Given the description of an element on the screen output the (x, y) to click on. 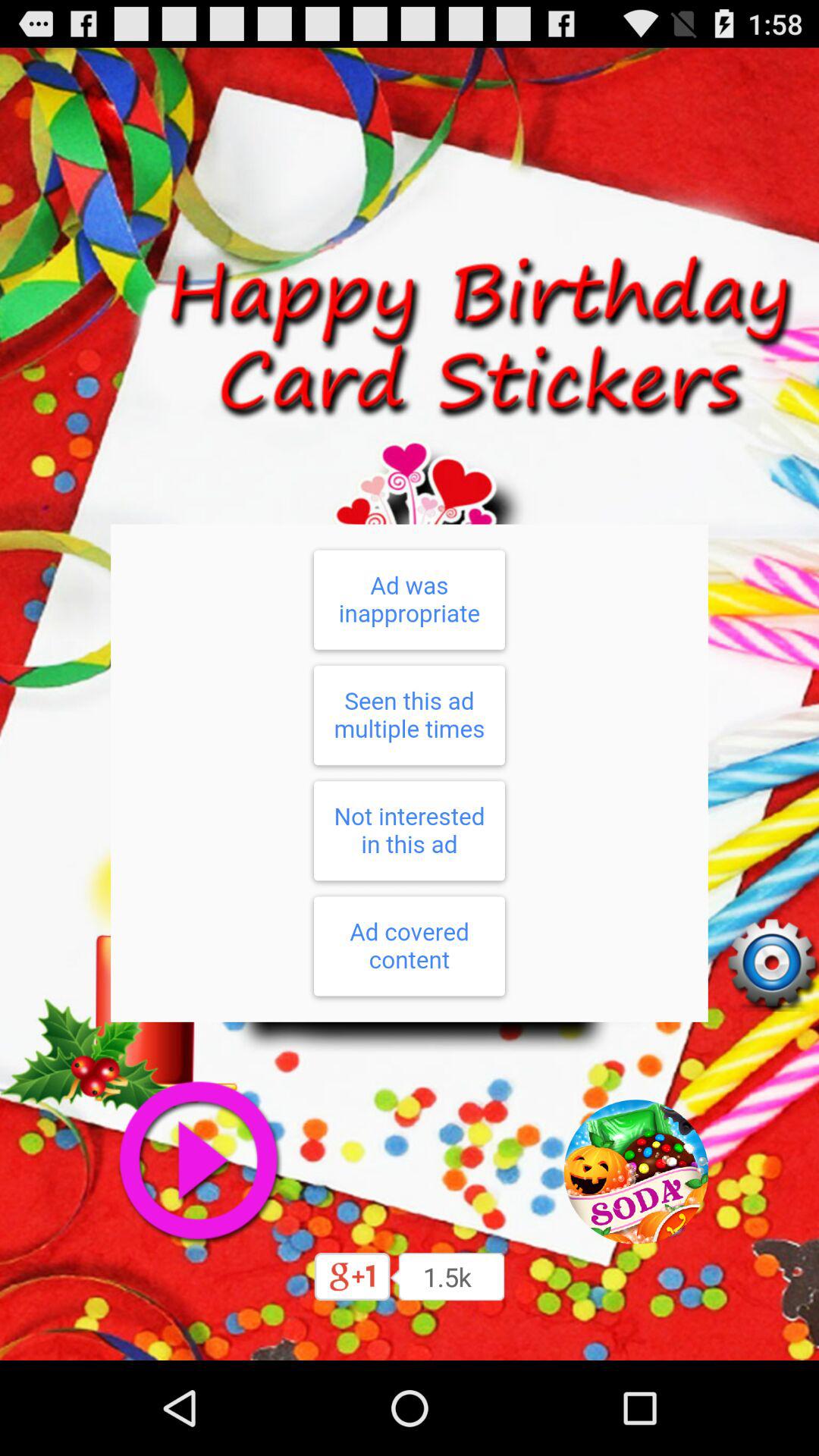
view settings (771, 963)
